Given the description of an element on the screen output the (x, y) to click on. 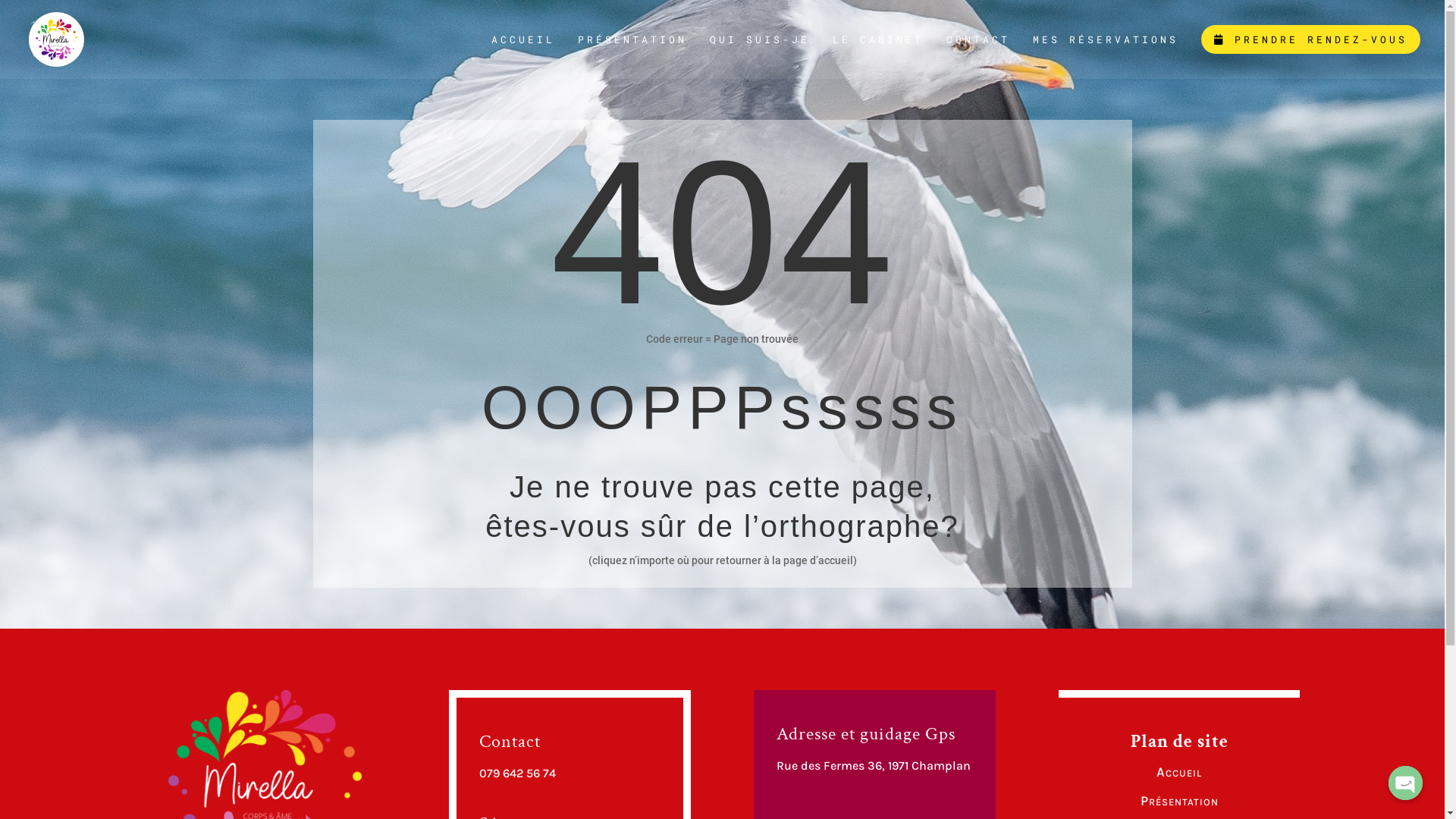
CONTACT Element type: text (978, 56)
Accueil Element type: text (1178, 771)
 PRENDRE RENDEZ-VOUS Element type: text (1310, 39)
LE CABINET Element type: text (877, 56)
079 642 56 74 Element type: text (517, 772)
ACCUEIL Element type: text (523, 56)
QUI SUIS-JE Element type: text (759, 56)
